Given the description of an element on the screen output the (x, y) to click on. 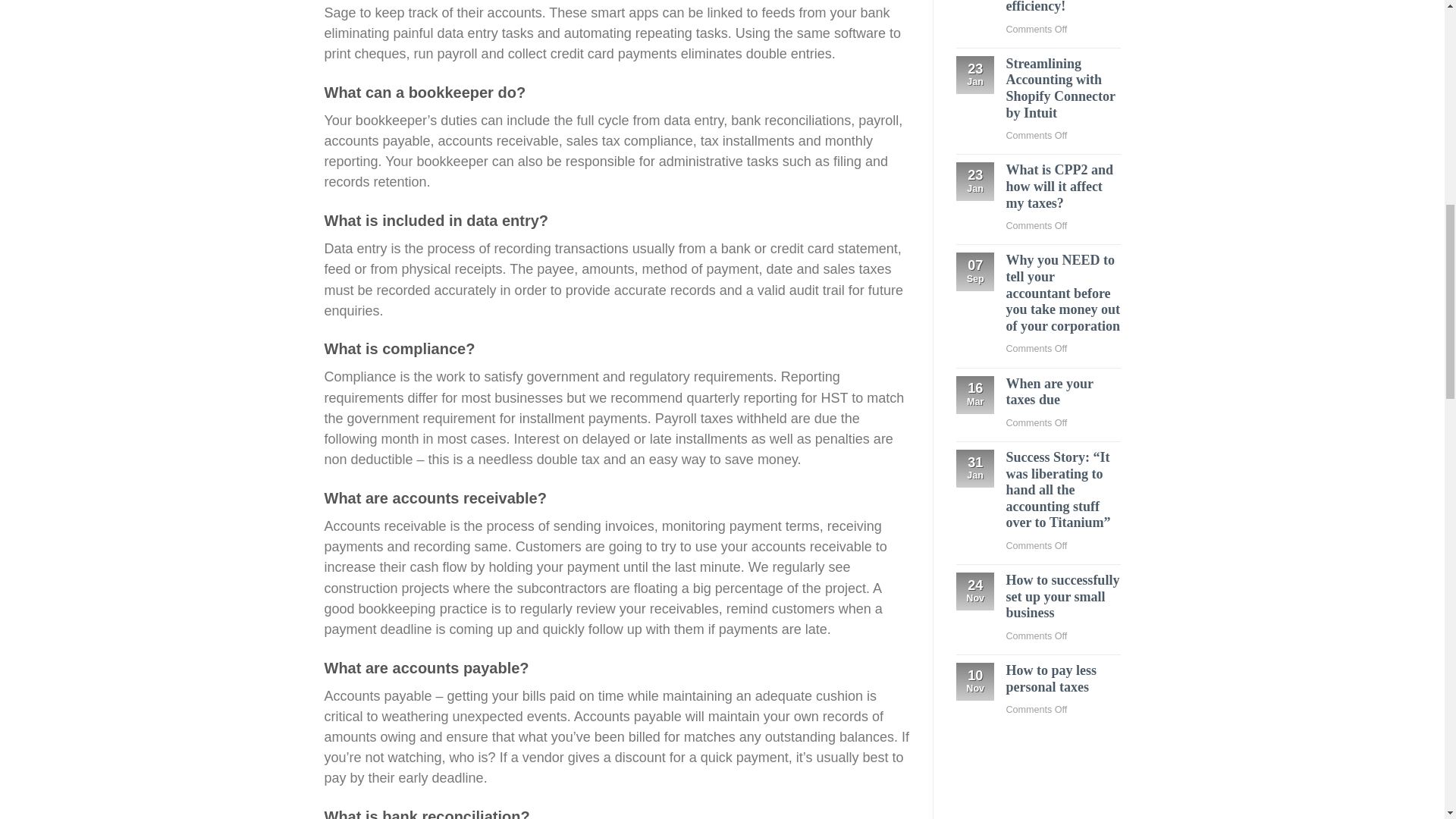
What is CPP2 and how will it affect my taxes? (1062, 186)
Streamlining Accounting with Shopify Connector by Intuit (1062, 88)
Streamlining Accounting with Shopify Connector by Intuit (1062, 88)
How to pay less personal taxes (1062, 678)
How to successfully set up your small business (1062, 596)
When are your taxes due (1062, 391)
When are your taxes due (1062, 391)
What is CPP2 and how will it affect my taxes? (1062, 186)
